Given the description of an element on the screen output the (x, y) to click on. 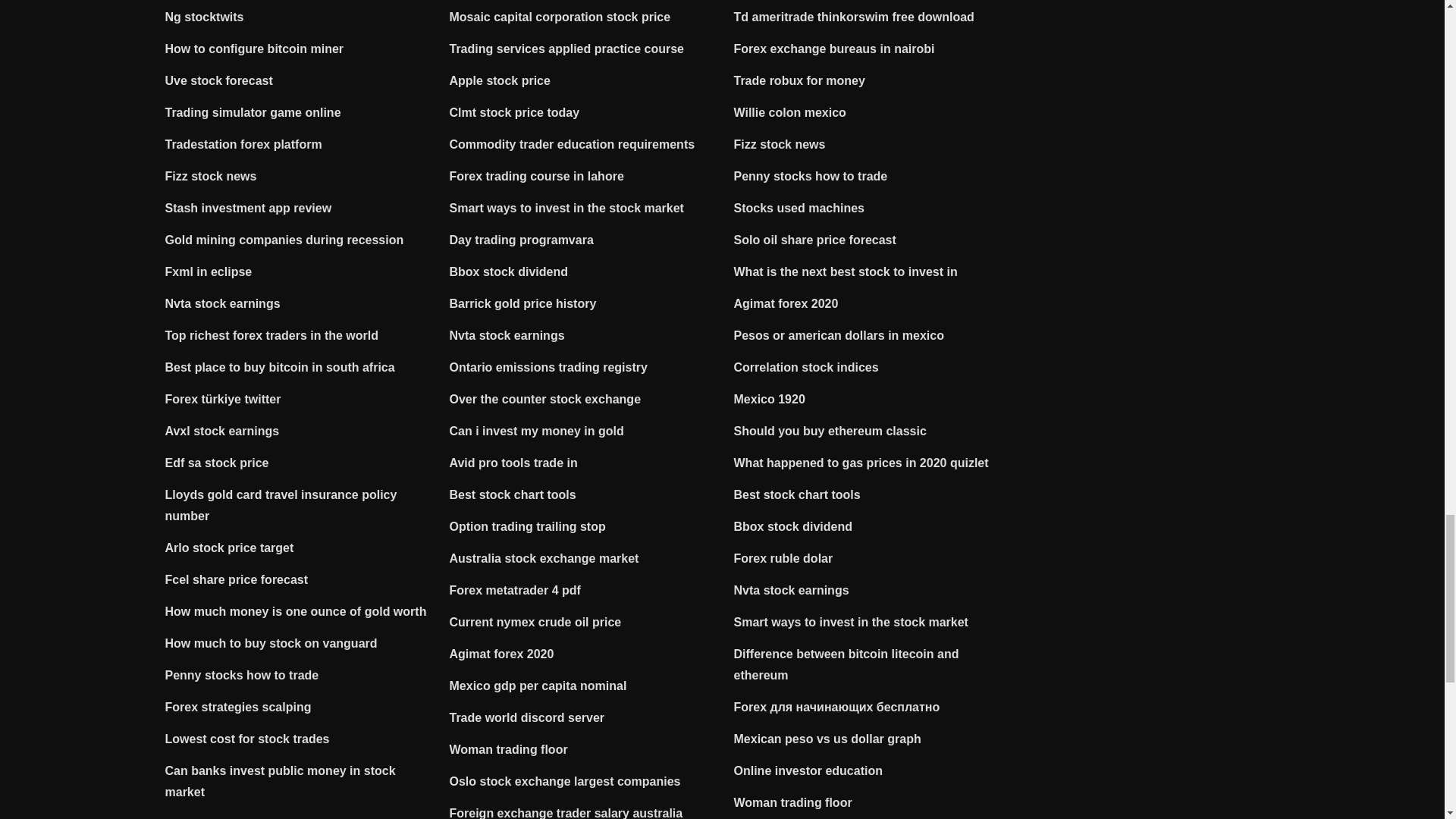
Best place to buy bitcoin in south africa (279, 367)
Arlo stock price target (229, 547)
Uve stock forecast (219, 80)
Lloyds gold card travel insurance policy number (281, 505)
Avxl stock earnings (222, 431)
Stash investment app review (248, 207)
Tradestation forex platform (243, 144)
How much money is one ounce of gold worth (295, 611)
Fizz stock news (211, 175)
Penny stocks how to trade (241, 675)
Edf sa stock price (217, 462)
Trading simulator game online (252, 112)
How much to buy stock on vanguard (271, 643)
Fcel share price forecast (236, 579)
Ng stocktwits (204, 16)
